Given the description of an element on the screen output the (x, y) to click on. 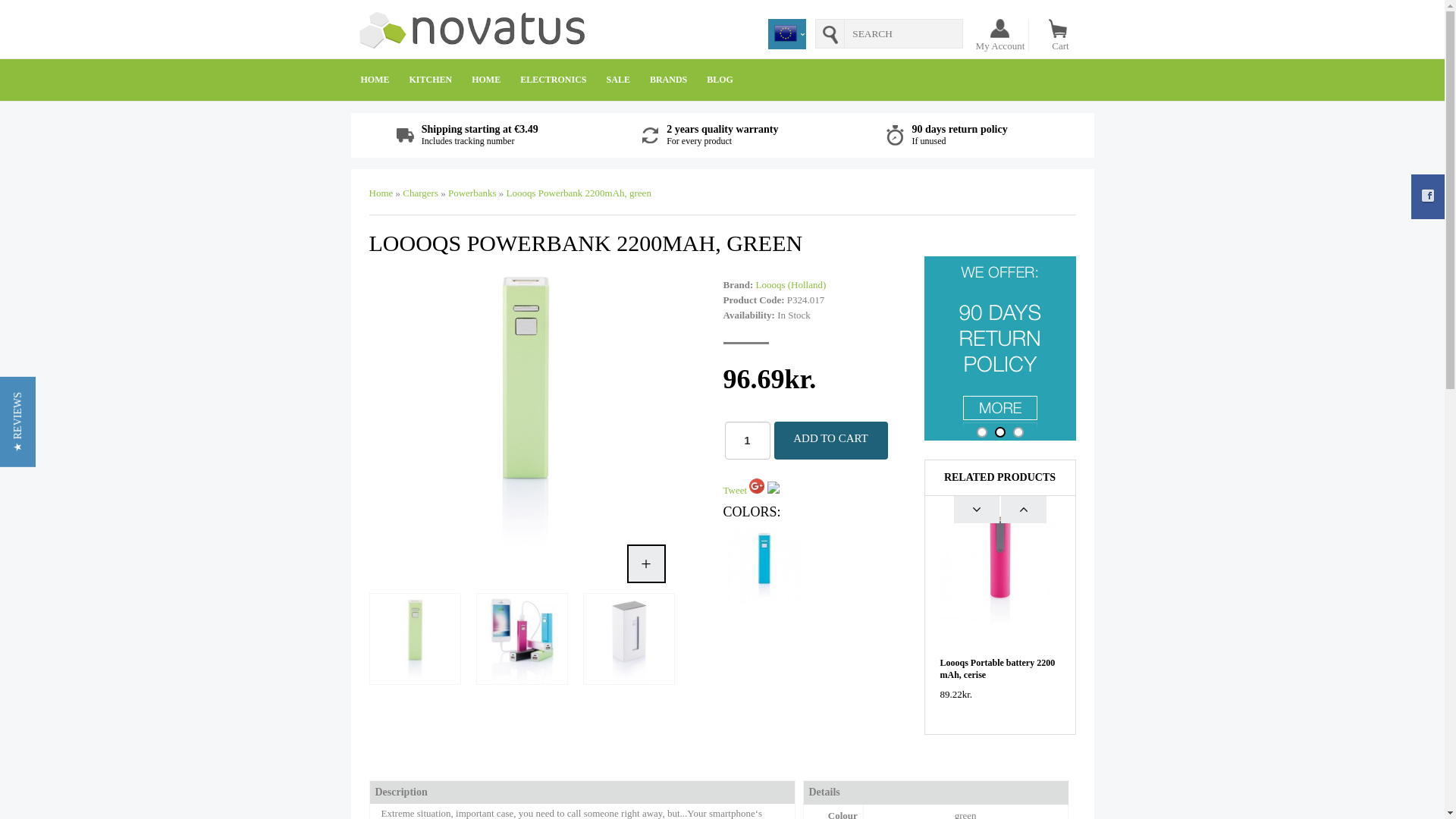
HOME (374, 79)
Loooqs Powerbank 2200mAh, green (413, 638)
Loooqs Portable battery 2200 mAh, cerise (997, 668)
ELECTRONICS (553, 79)
1 (747, 440)
Go (829, 33)
Loooqs Powerbank 2200mAh, green (524, 555)
KITCHEN (429, 79)
Loooqs Powerbank 2200mAh, green (521, 638)
Loooqs Powerbank 2200mAh, green (628, 638)
